Given the description of an element on the screen output the (x, y) to click on. 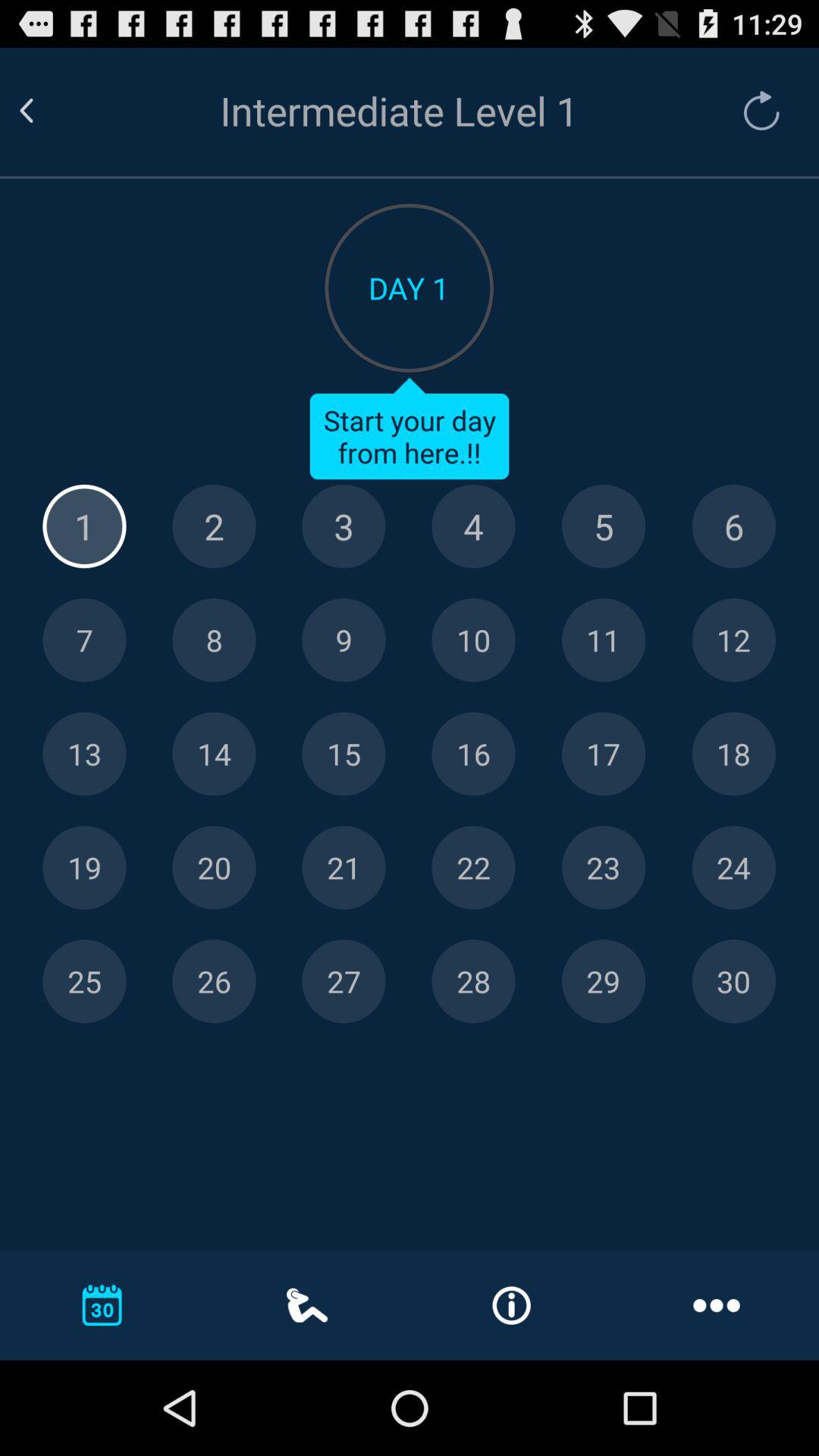
select day 5 (603, 526)
